Given the description of an element on the screen output the (x, y) to click on. 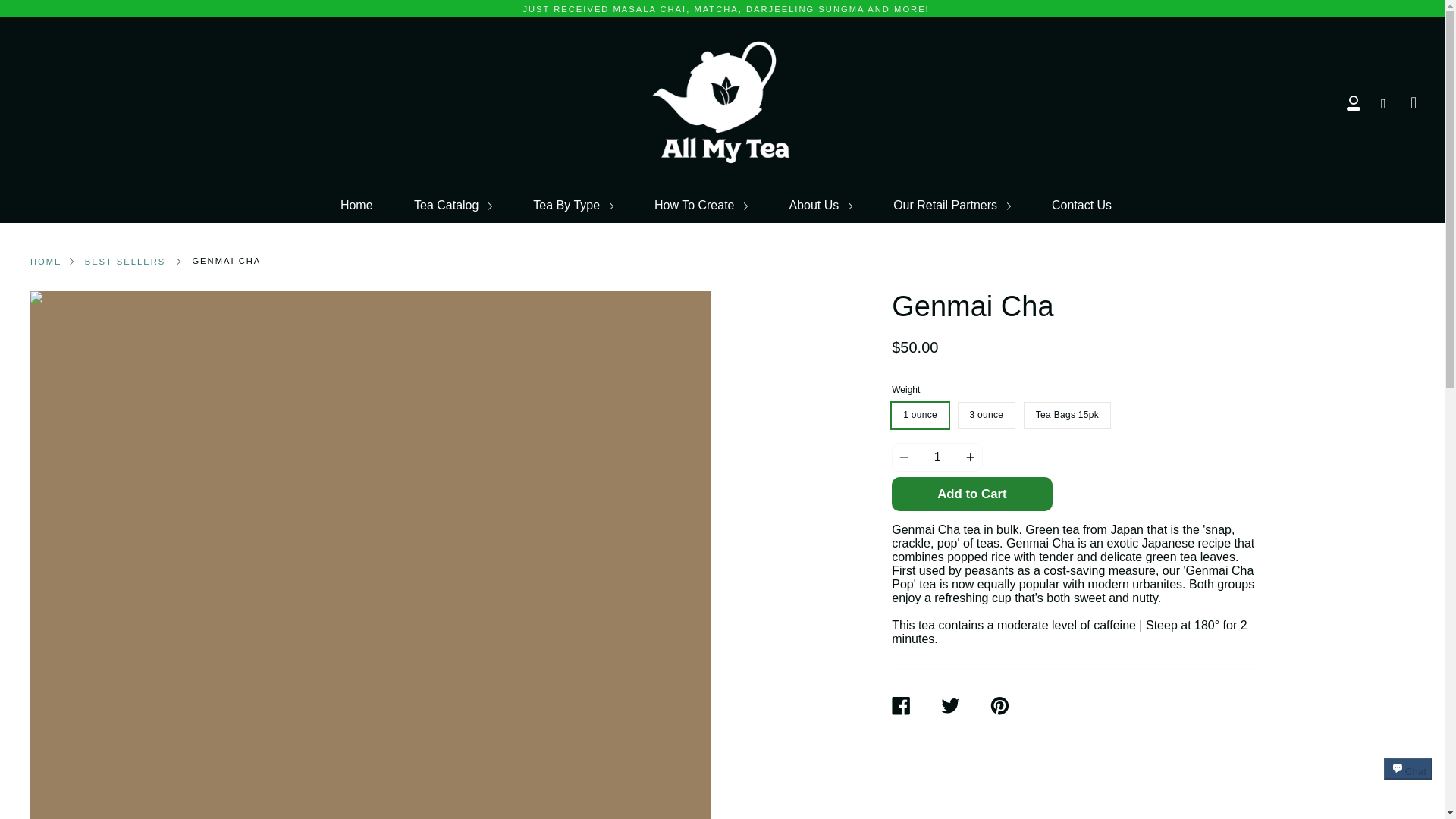
Tea By Type (572, 204)
Tea Catalog (453, 204)
Home (356, 204)
Shopify online store chat (1408, 781)
1 (936, 457)
